Given the description of an element on the screen output the (x, y) to click on. 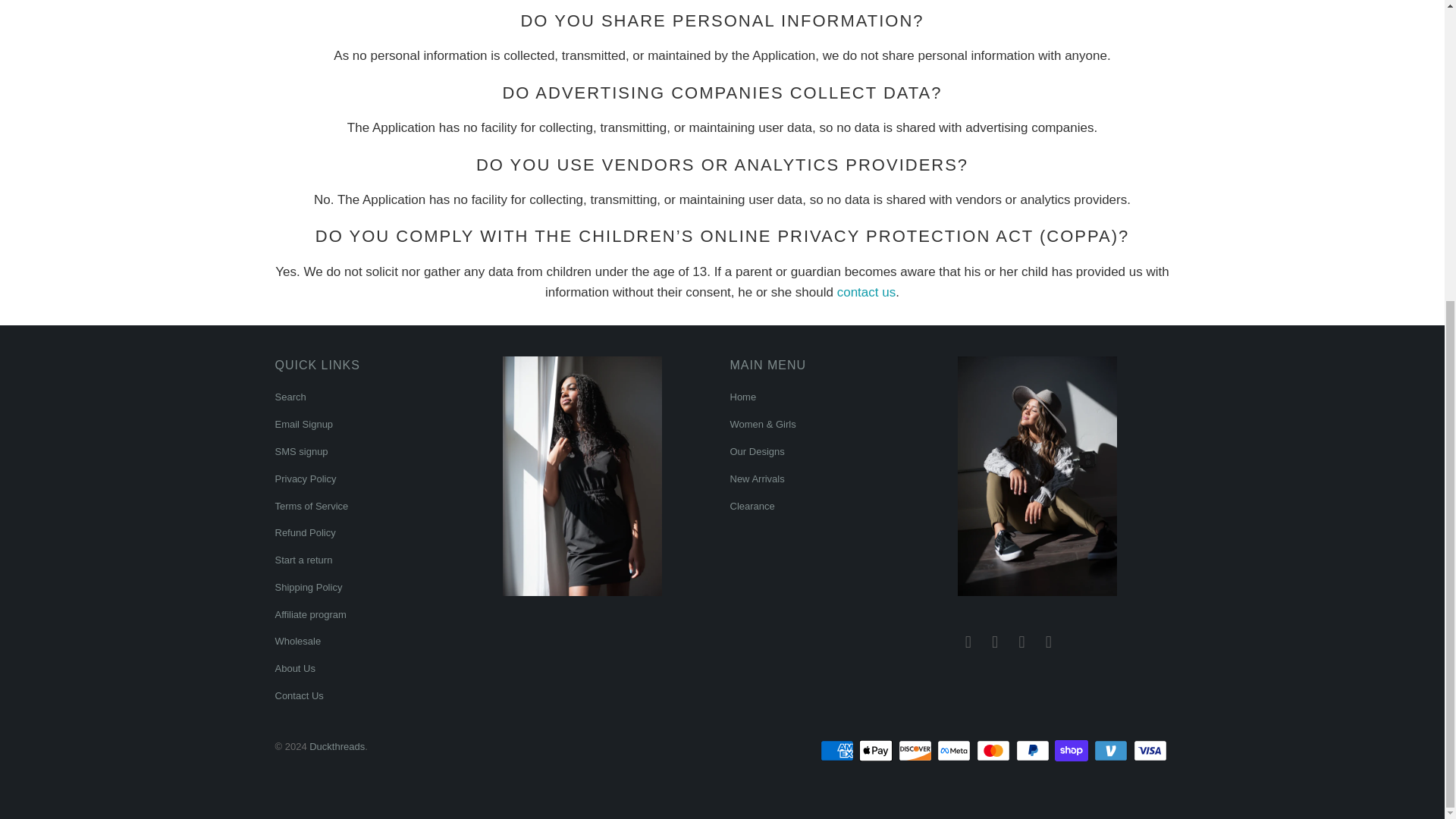
PayPal (1034, 750)
American Express (839, 750)
Venmo (1112, 750)
Apple Pay (877, 750)
Duckthreads on Facebook (967, 642)
Shop Pay (1072, 750)
Duckthreads on Pinterest (995, 642)
Duckthreads on Instagram (1021, 642)
Meta Pay (955, 750)
Email Duckthreads (1047, 642)
